Given the description of an element on the screen output the (x, y) to click on. 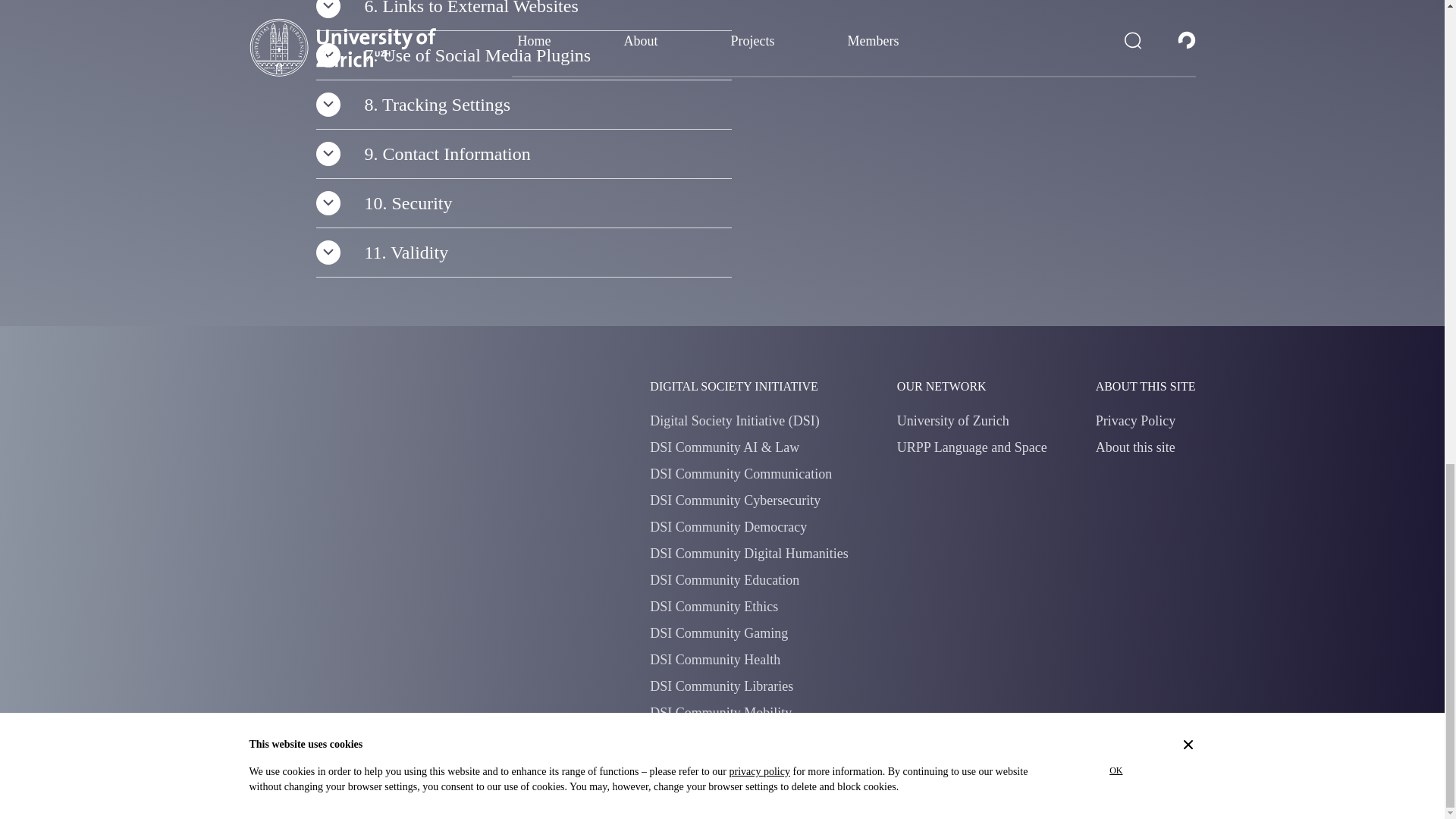
DSI Community Communication (740, 473)
